Given the description of an element on the screen output the (x, y) to click on. 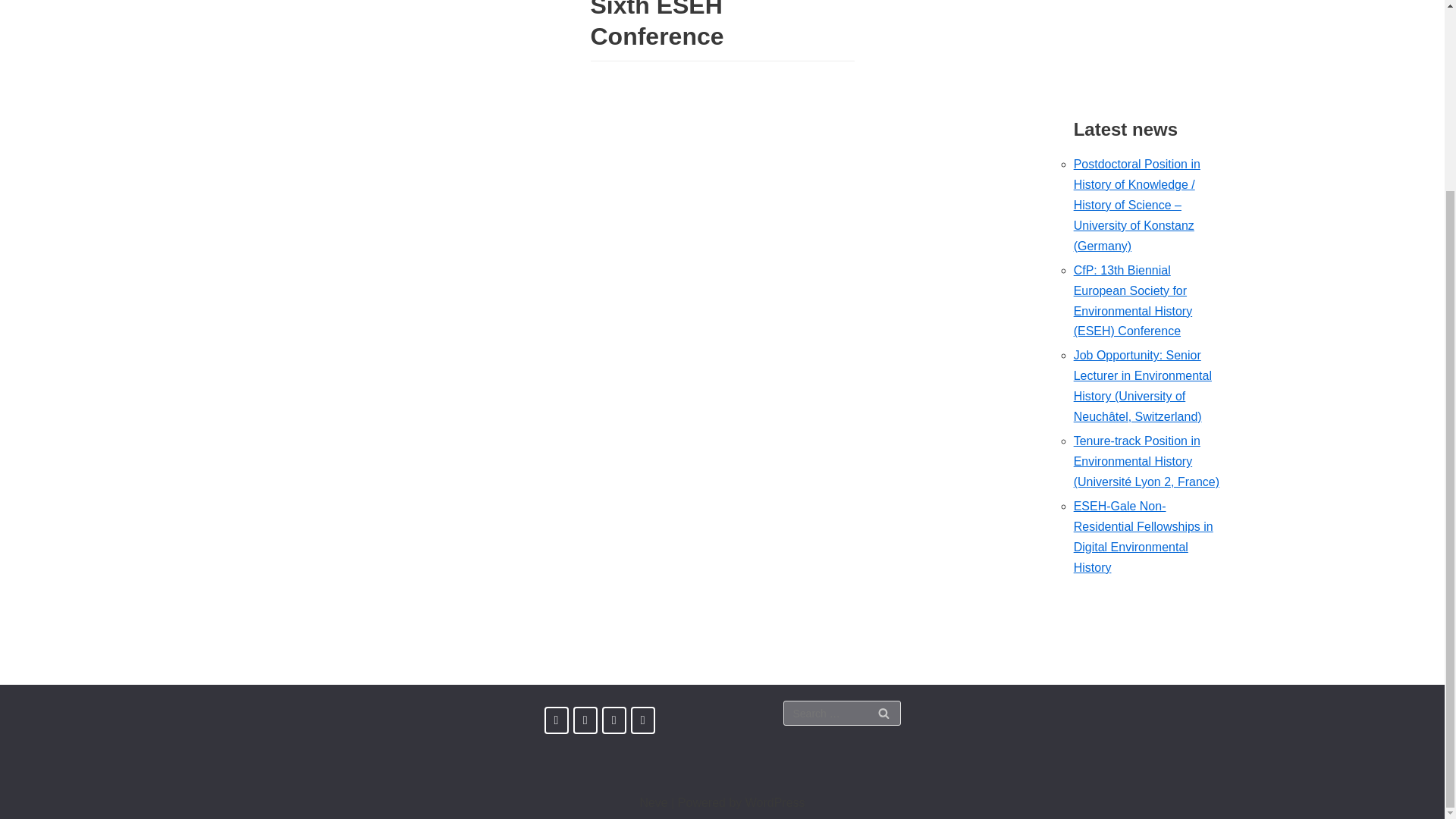
European Society for Environmental History on Twitter (584, 719)
Search (882, 713)
Search (882, 713)
Email European Society for Environmental History (642, 719)
